Given the description of an element on the screen output the (x, y) to click on. 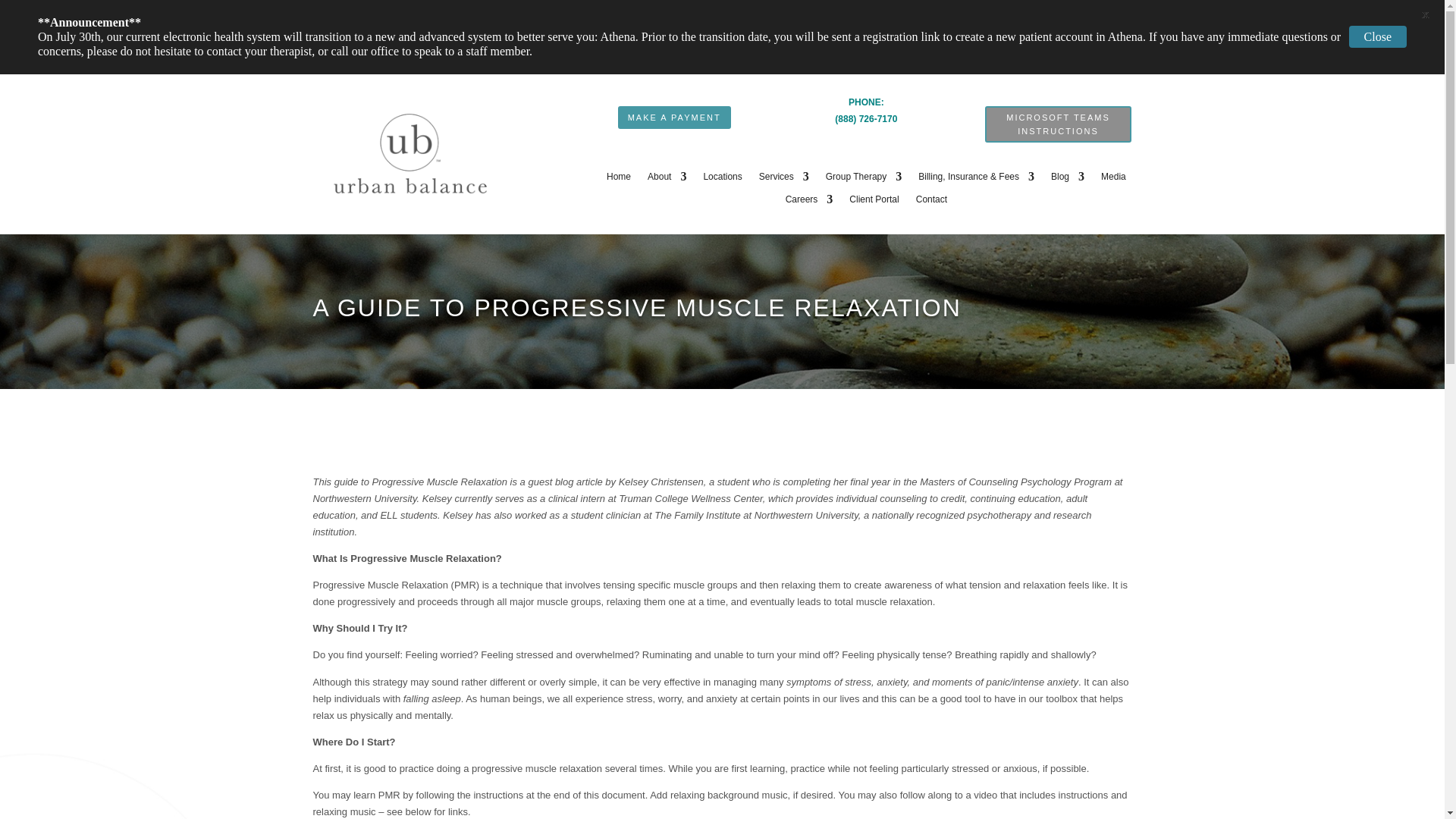
Contact (931, 202)
Services (783, 179)
MICROSOFT TEAMS INSTRUCTIONS (1058, 124)
Blog (1067, 179)
Careers (809, 202)
Group Therapy (863, 179)
MAKE A PAYMENT (673, 116)
About (666, 179)
Locations (722, 179)
Home (618, 179)
Urban Balance Logo (409, 154)
Media (1112, 179)
Client Portal (873, 202)
